Given the description of an element on the screen output the (x, y) to click on. 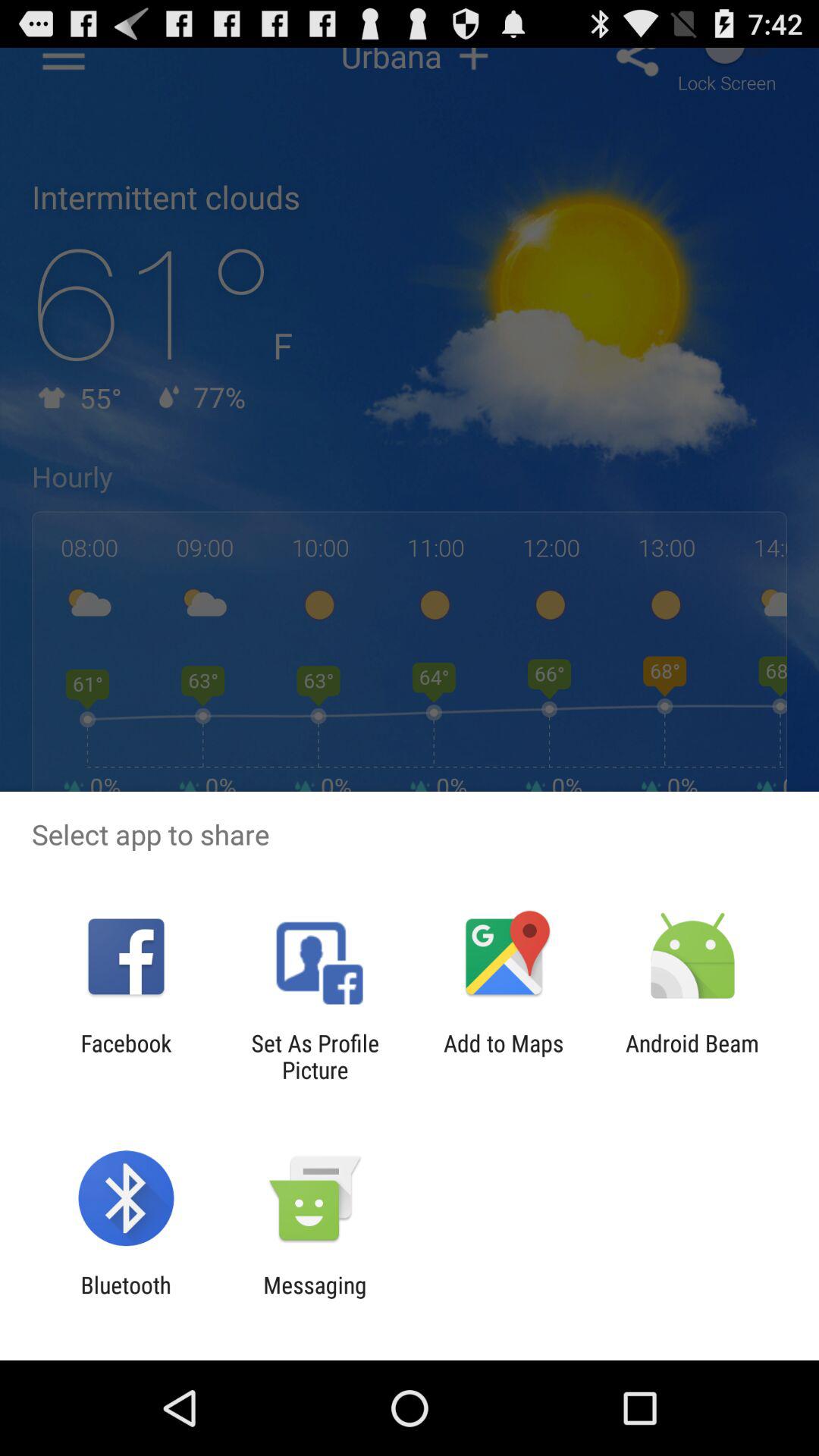
flip to set as profile icon (314, 1056)
